Given the description of an element on the screen output the (x, y) to click on. 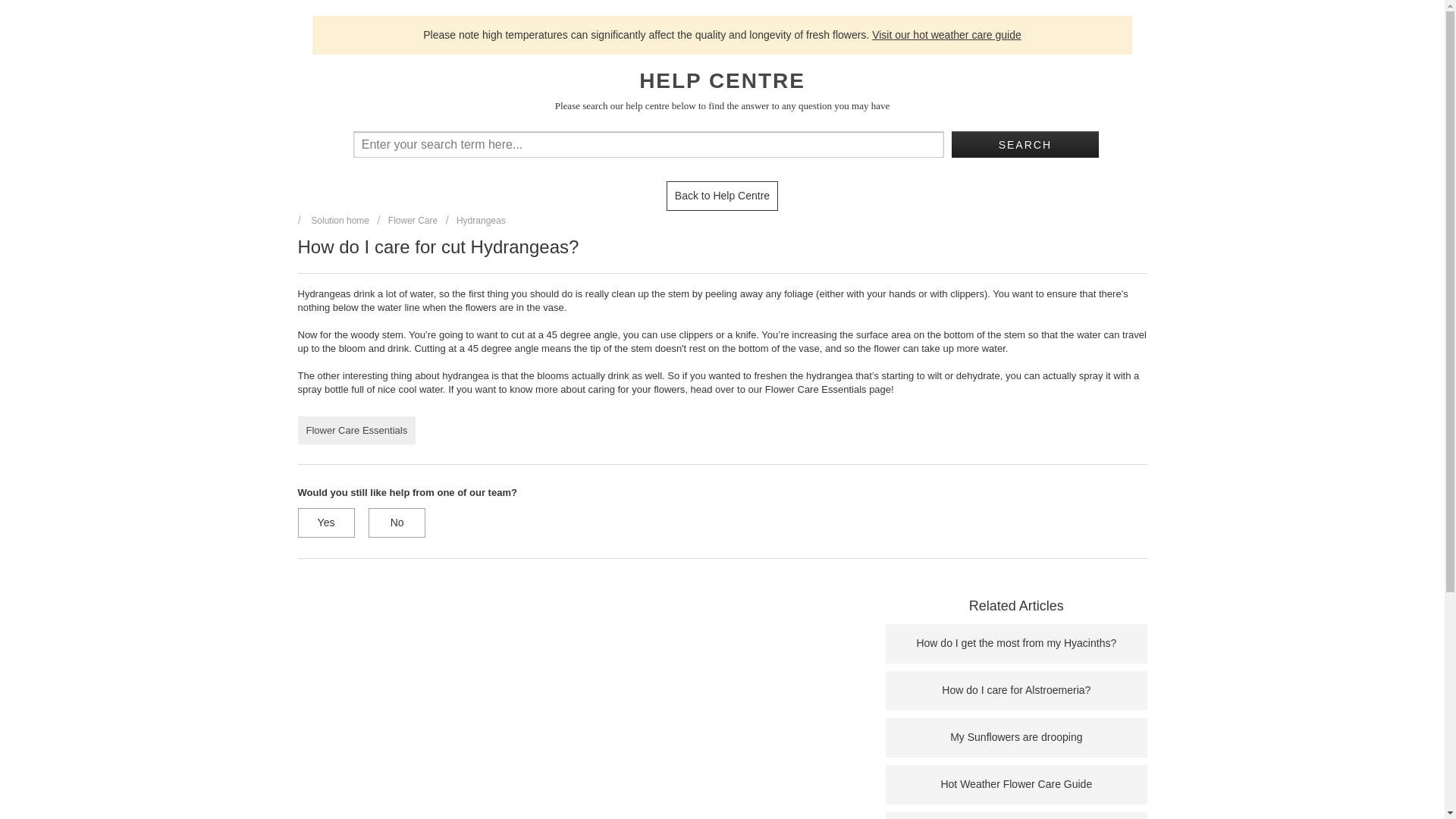
How do I get the most from my Hyacinths? (1015, 643)
How do I care for Alstroemeria? (1016, 689)
SEARCH (1025, 144)
Back to Help Centre (721, 195)
Hydrangeas (475, 220)
Back to Help Centre (721, 195)
Flower Care (407, 220)
Solution home (334, 220)
Yes (325, 522)
No (396, 522)
